Given the description of an element on the screen output the (x, y) to click on. 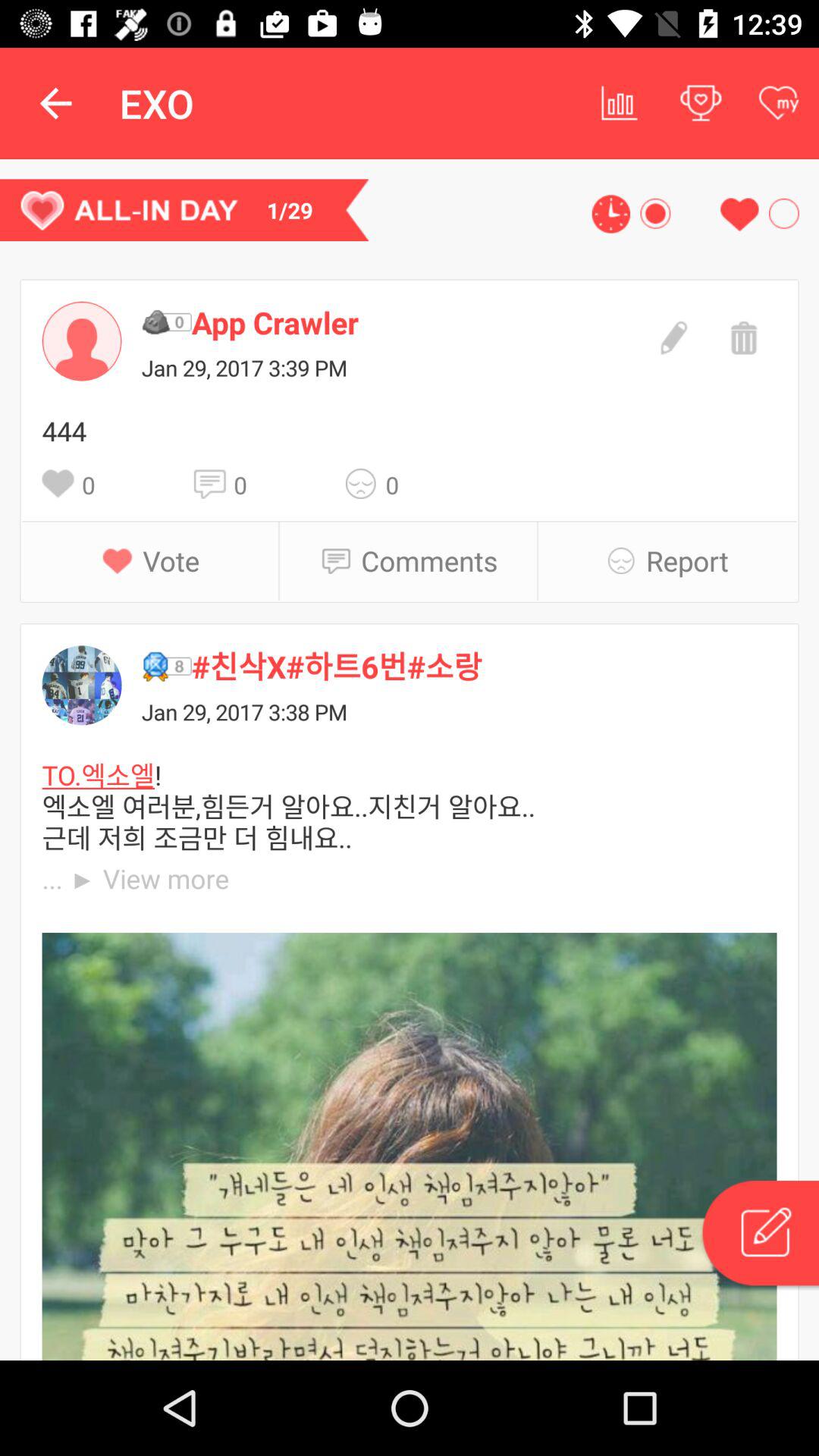
toggle reaction (365, 483)
